Given the description of an element on the screen output the (x, y) to click on. 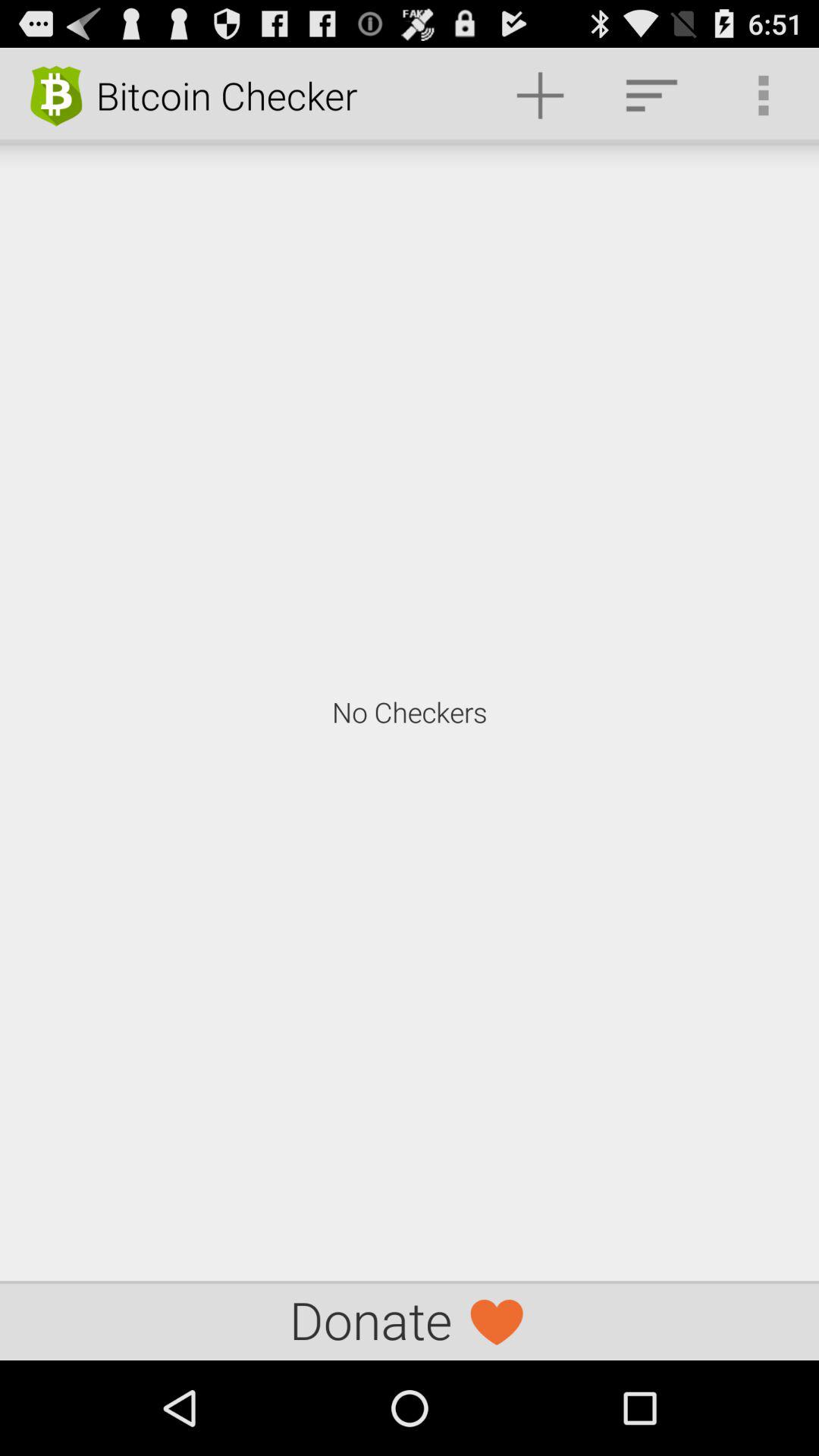
click the item next to bitcoin checker (540, 95)
